Given the description of an element on the screen output the (x, y) to click on. 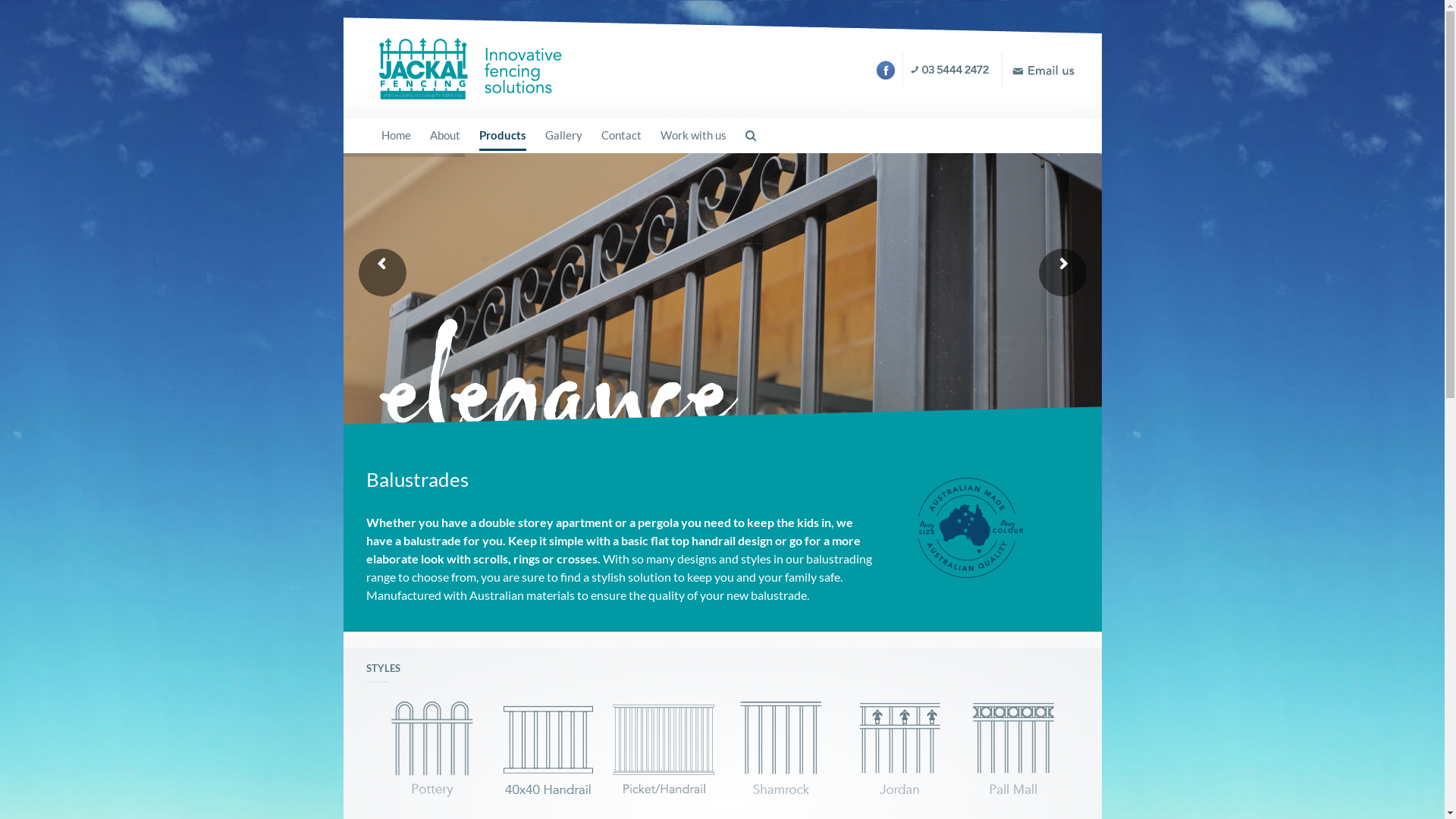
About Element type: text (444, 135)
Picket Handrail Element type: hover (664, 750)
Work with us Element type: text (692, 135)
40x40 Handrail Element type: hover (548, 750)
Pottery Element type: hover (432, 750)
Shamrock Element type: hover (780, 750)
Pall Mall Element type: hover (1012, 750)
Search Element type: hover (749, 135)
Gallery Element type: text (562, 135)
Jordan Element type: hover (896, 750)
Products Element type: text (502, 135)
Contact Element type: text (620, 135)
Home Element type: text (395, 135)
australian-made Element type: hover (966, 526)
